Given the description of an element on the screen output the (x, y) to click on. 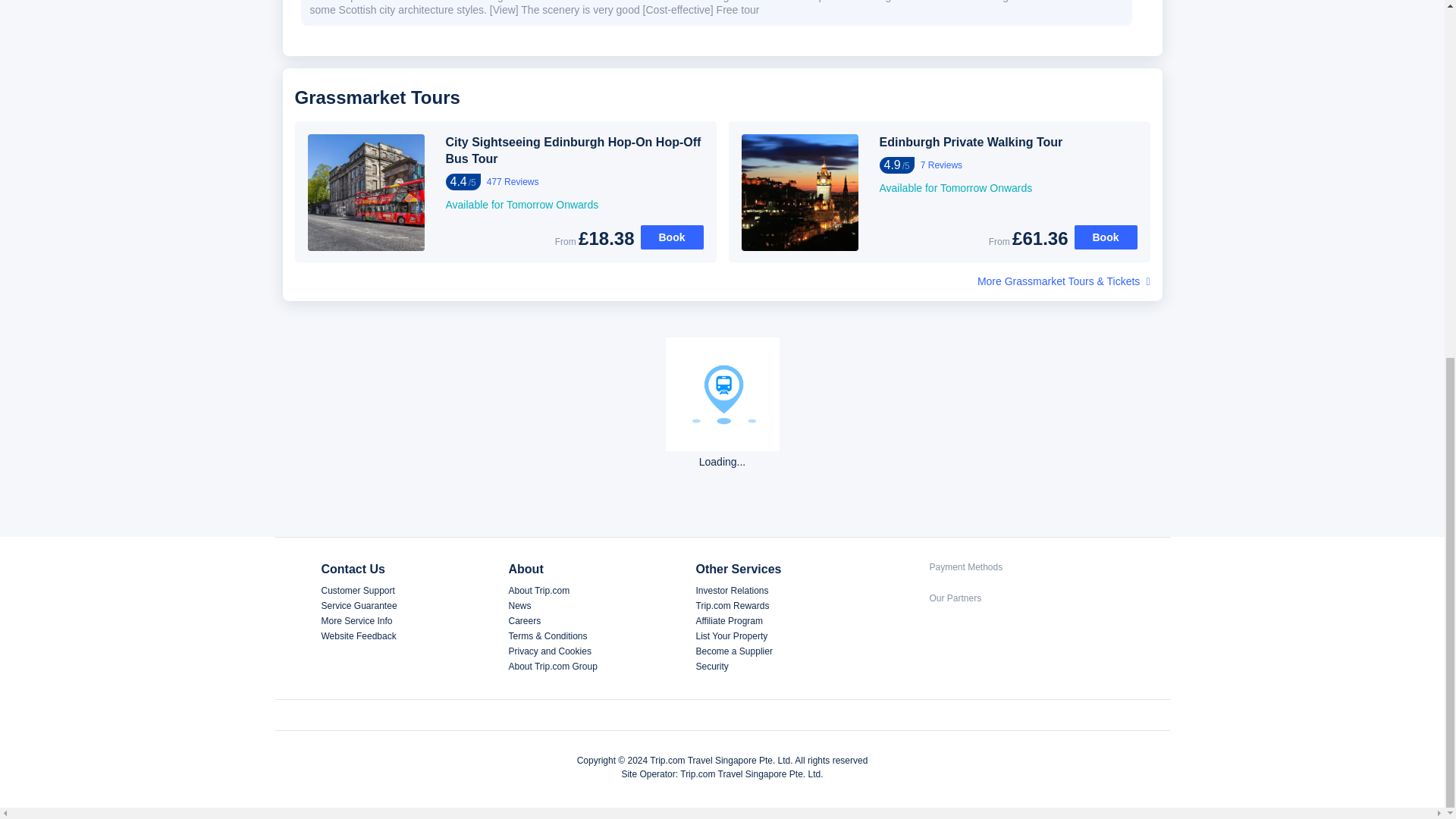
Service Guarantee (359, 605)
Privacy and Cookies (549, 651)
Careers (524, 620)
City Sightseeing Edinburgh Hop-On Hop-Off Bus TourBook (671, 237)
About Trip.com Group (552, 665)
Investor Relations (731, 590)
News (519, 605)
More Service Info (357, 620)
About Trip.com (538, 590)
Customer Support (357, 590)
City Sightseeing Edinburgh Hop-On Hop-Off Bus Tour (574, 150)
Affiliate Program (728, 620)
Trip.com Rewards (732, 605)
Website Feedback (358, 635)
Edinburgh Private Walking Tour (1008, 142)
